Given the description of an element on the screen output the (x, y) to click on. 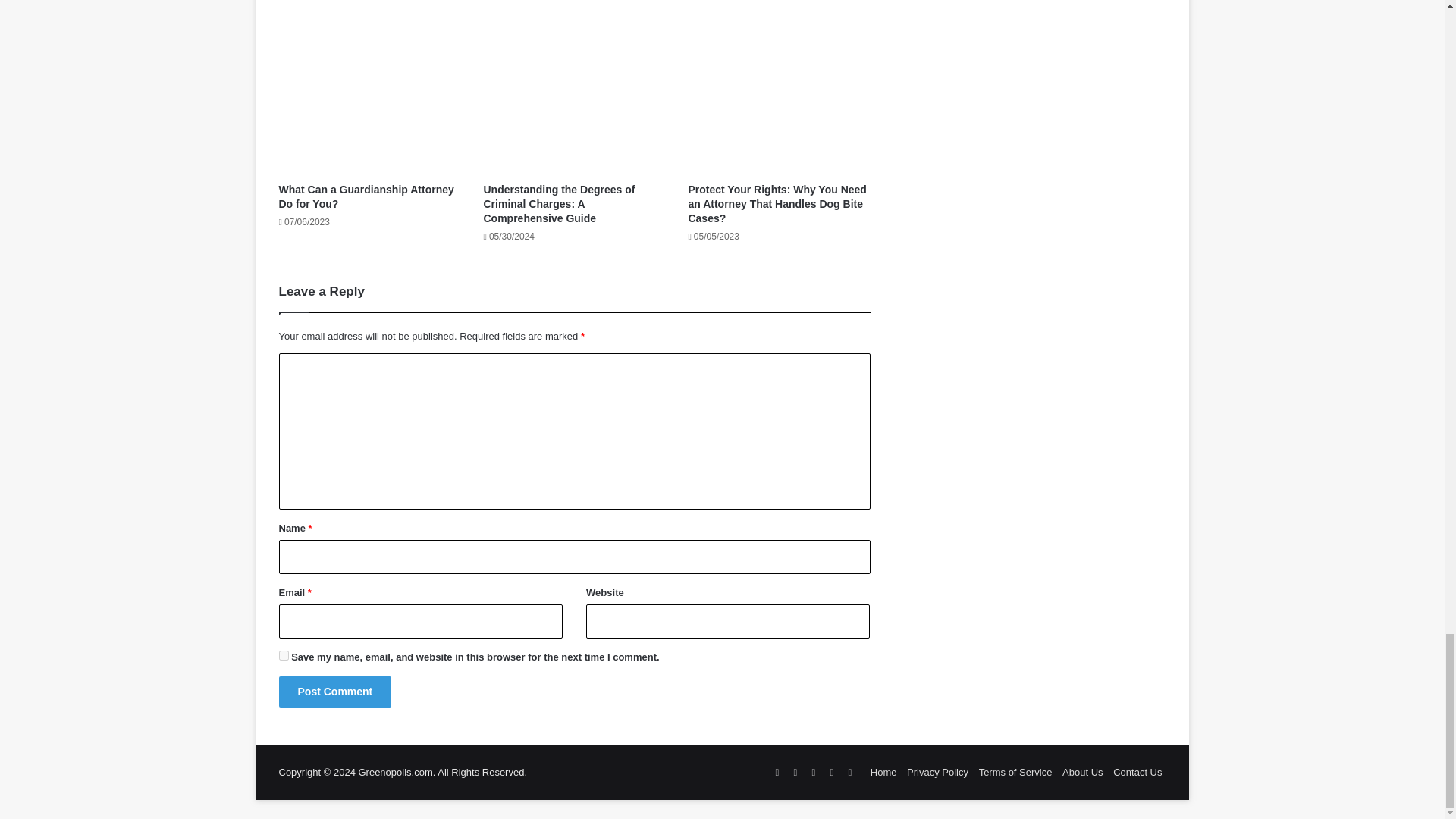
Post Comment (335, 691)
yes (283, 655)
